Given the description of an element on the screen output the (x, y) to click on. 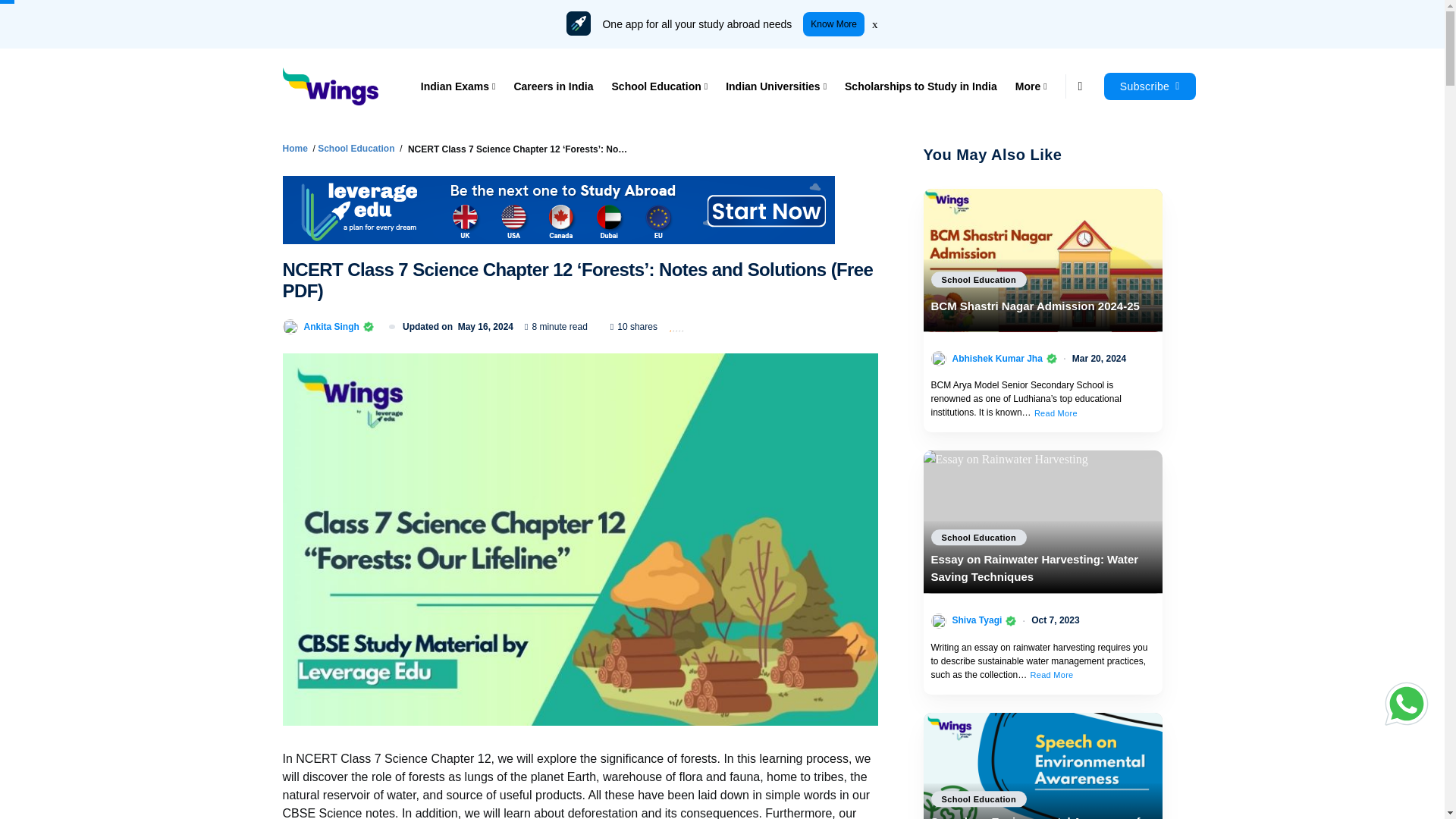
View all posts by Shiva Tyagi (977, 620)
View all posts by Ankita Singh (330, 326)
View all posts by Abhishek Kumar Jha (997, 358)
